Given the description of an element on the screen output the (x, y) to click on. 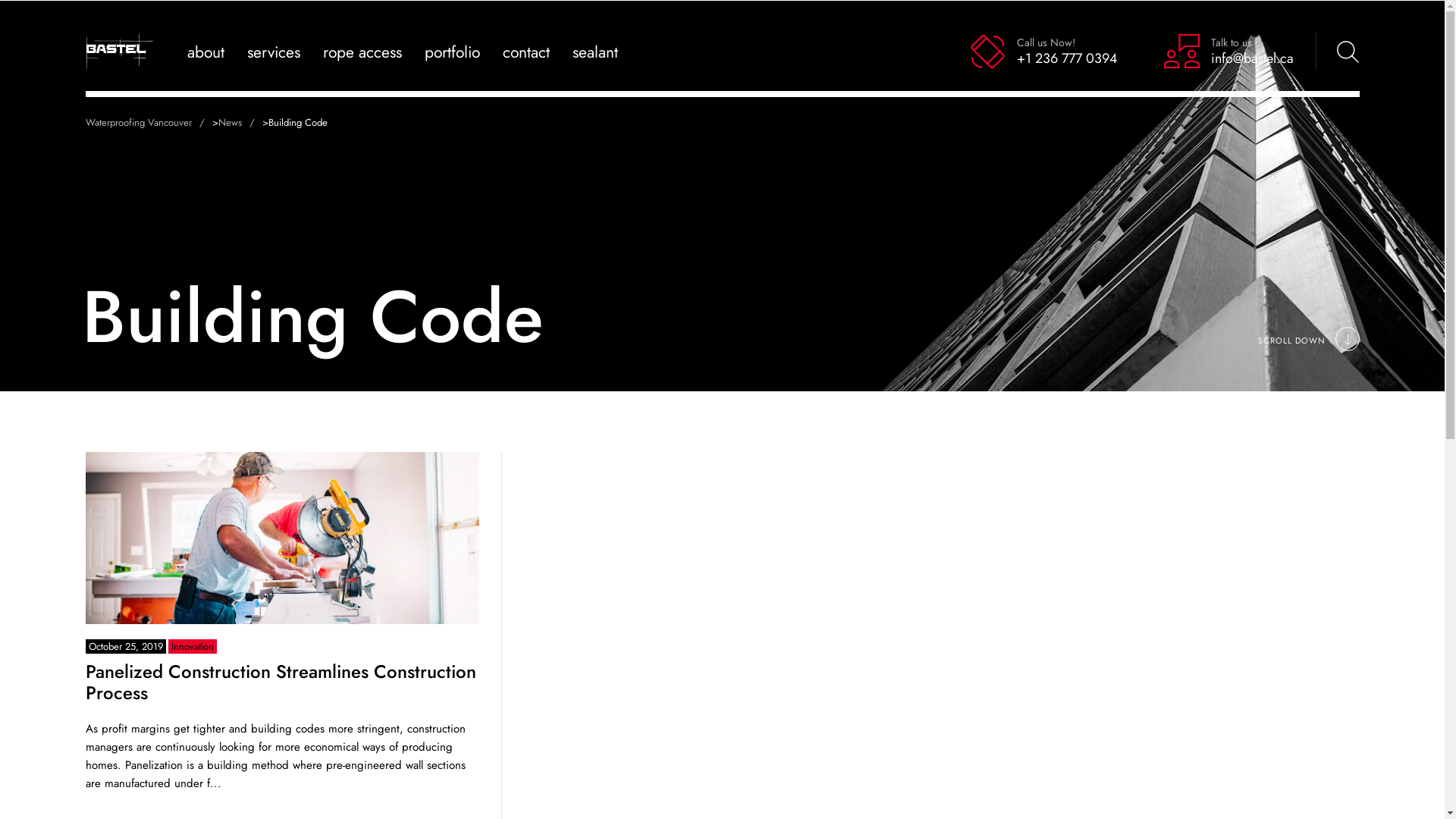
portfolio Element type: text (452, 51)
b3 Element type: hover (281, 537)
Search Element type: text (1304, 52)
contact Element type: text (525, 51)
Search Element type: text (1328, 51)
Panelized Construction Streamlines Construction Process Element type: text (279, 682)
about Element type: text (204, 51)
sealant Element type: text (594, 51)
Waterproofing Vancouver Element type: text (147, 122)
SCROLL DOWN Element type: text (1307, 340)
services Element type: text (273, 51)
rope access Element type: text (362, 51)
News Element type: text (240, 122)
Call us Now!
+1 236 777 0394 Element type: text (1043, 51)
Talk to us
info@bastel.ca Element type: text (1228, 51)
Innovation Element type: text (192, 646)
